Given the description of an element on the screen output the (x, y) to click on. 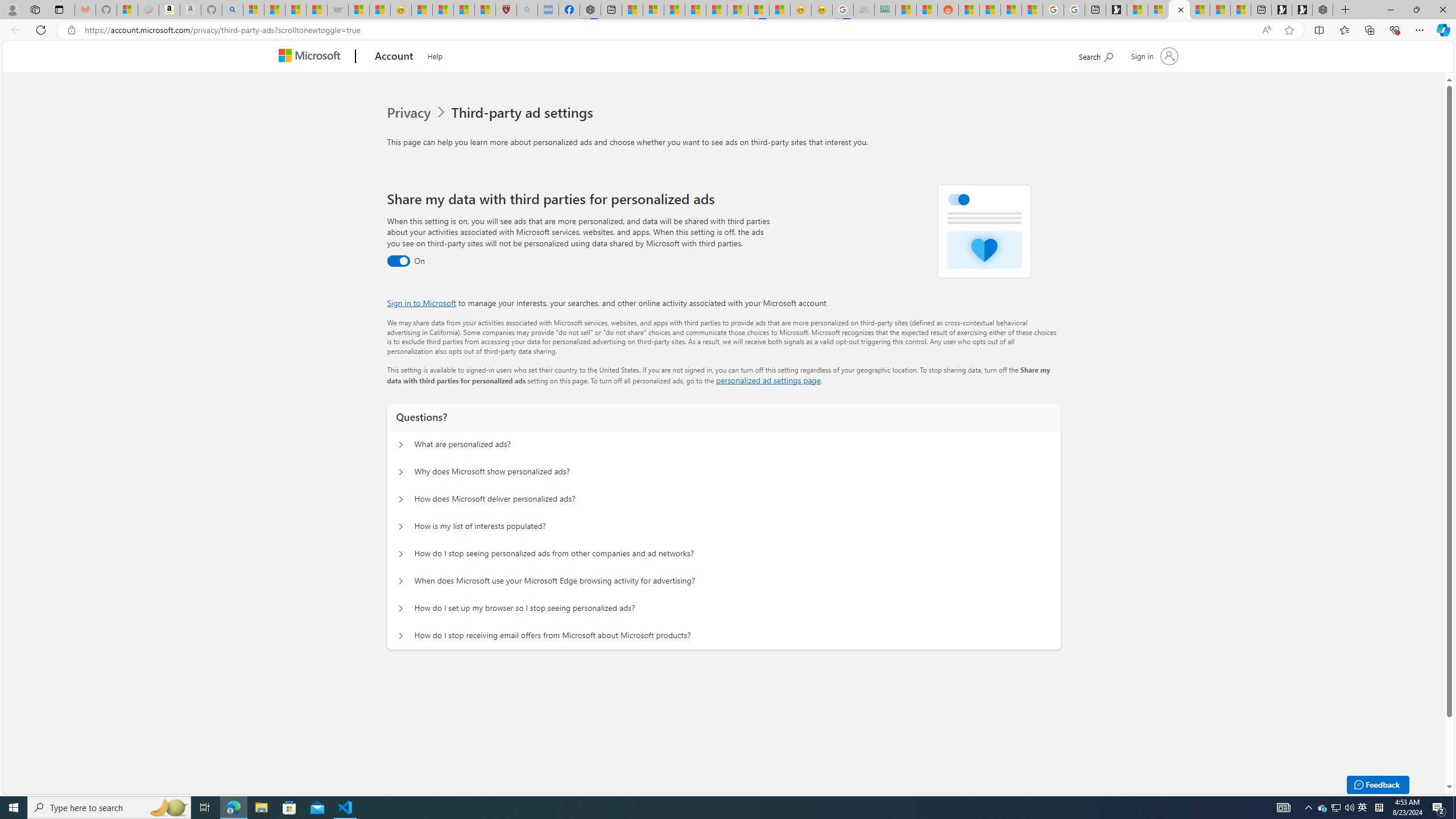
Sign in to your account (1153, 55)
